Given the description of an element on the screen output the (x, y) to click on. 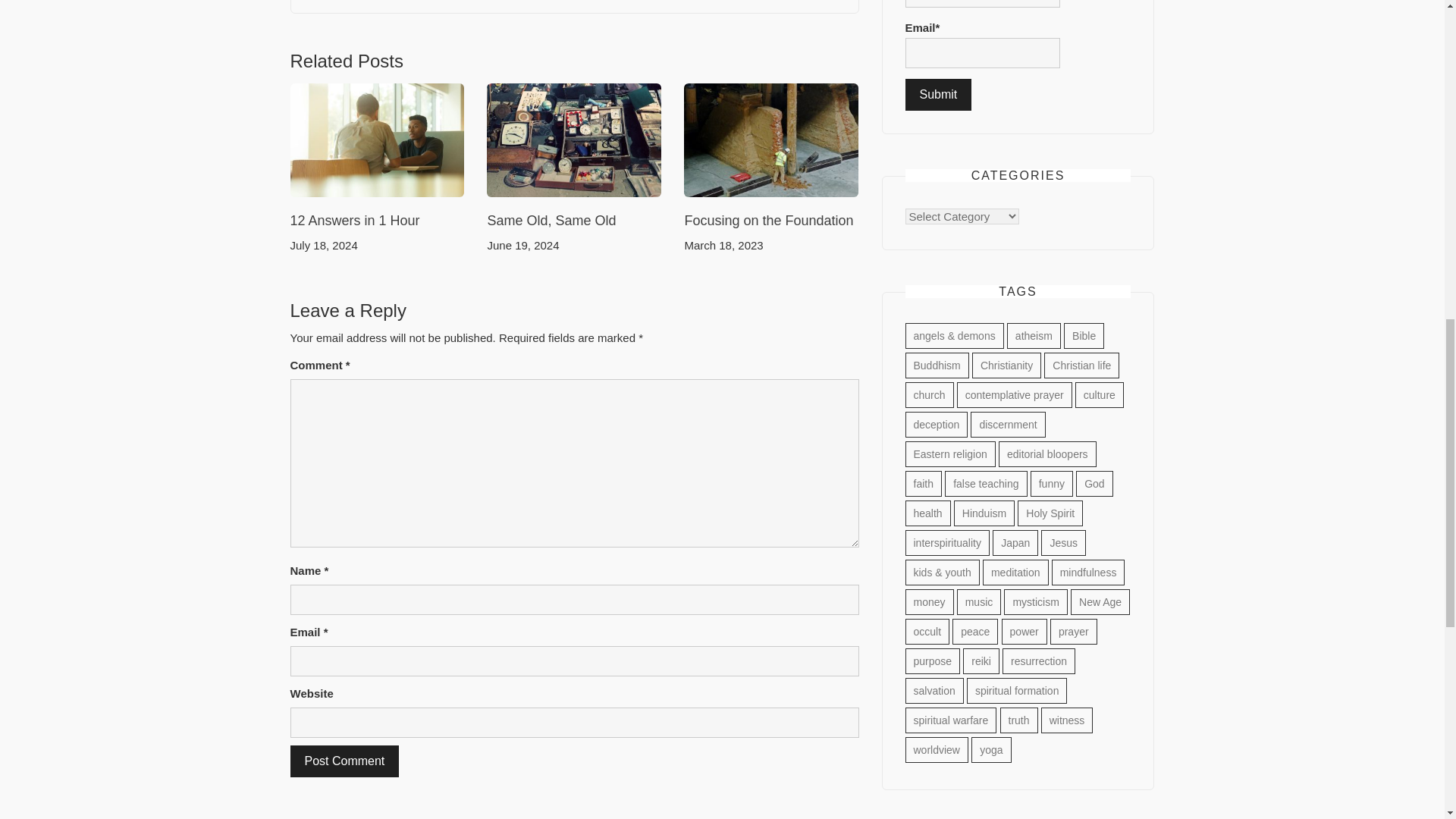
Focusing on the Foundation (768, 220)
12 Answers in 1 Hour (354, 220)
Same Old, Same Old (550, 220)
Bible (1083, 335)
Post Comment (343, 761)
Submit (938, 94)
Post Comment (343, 761)
atheism (1034, 335)
Submit (938, 94)
